Given the description of an element on the screen output the (x, y) to click on. 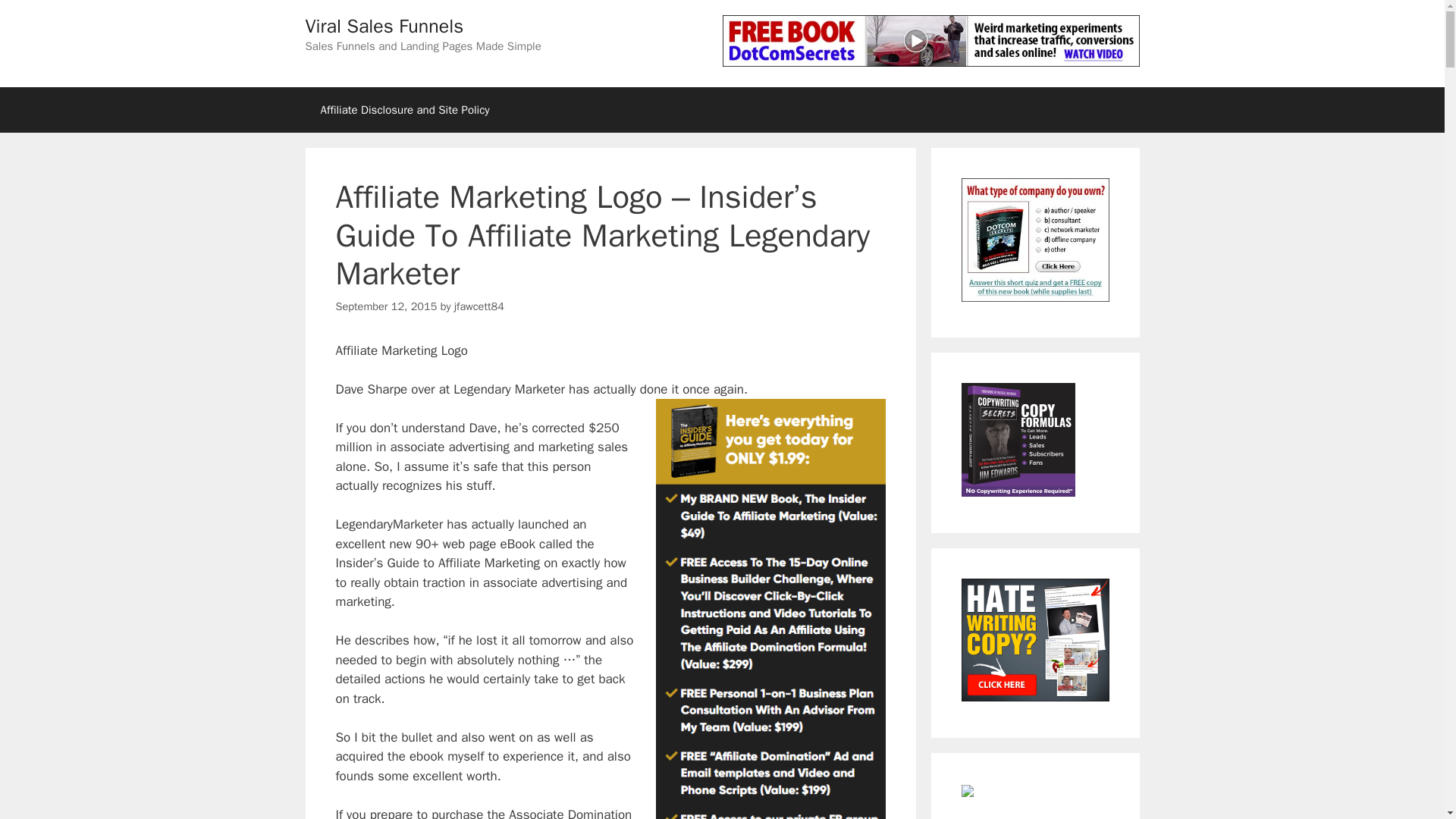
jfawcett84 (478, 305)
Affiliate Disclosure and Site Policy (403, 109)
Viral Sales Funnels (383, 25)
View all posts by jfawcett84 (478, 305)
